Given the description of an element on the screen output the (x, y) to click on. 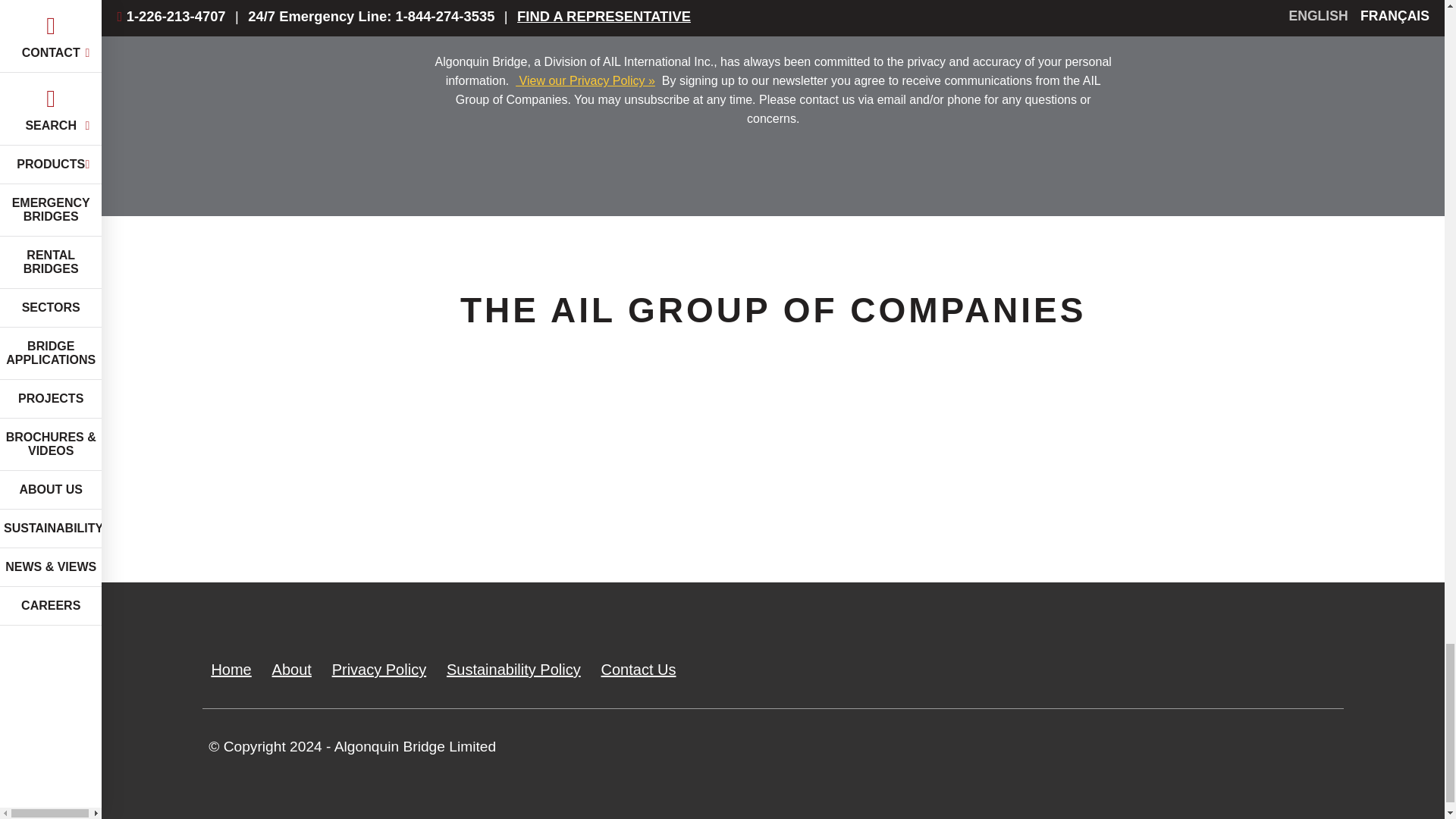
Algonquin Bridge (556, 488)
AIL (328, 488)
AIL Internatinoal (784, 488)
AIL Mining (1241, 488)
AIL Soundwalls (1013, 488)
